Given the description of an element on the screen output the (x, y) to click on. 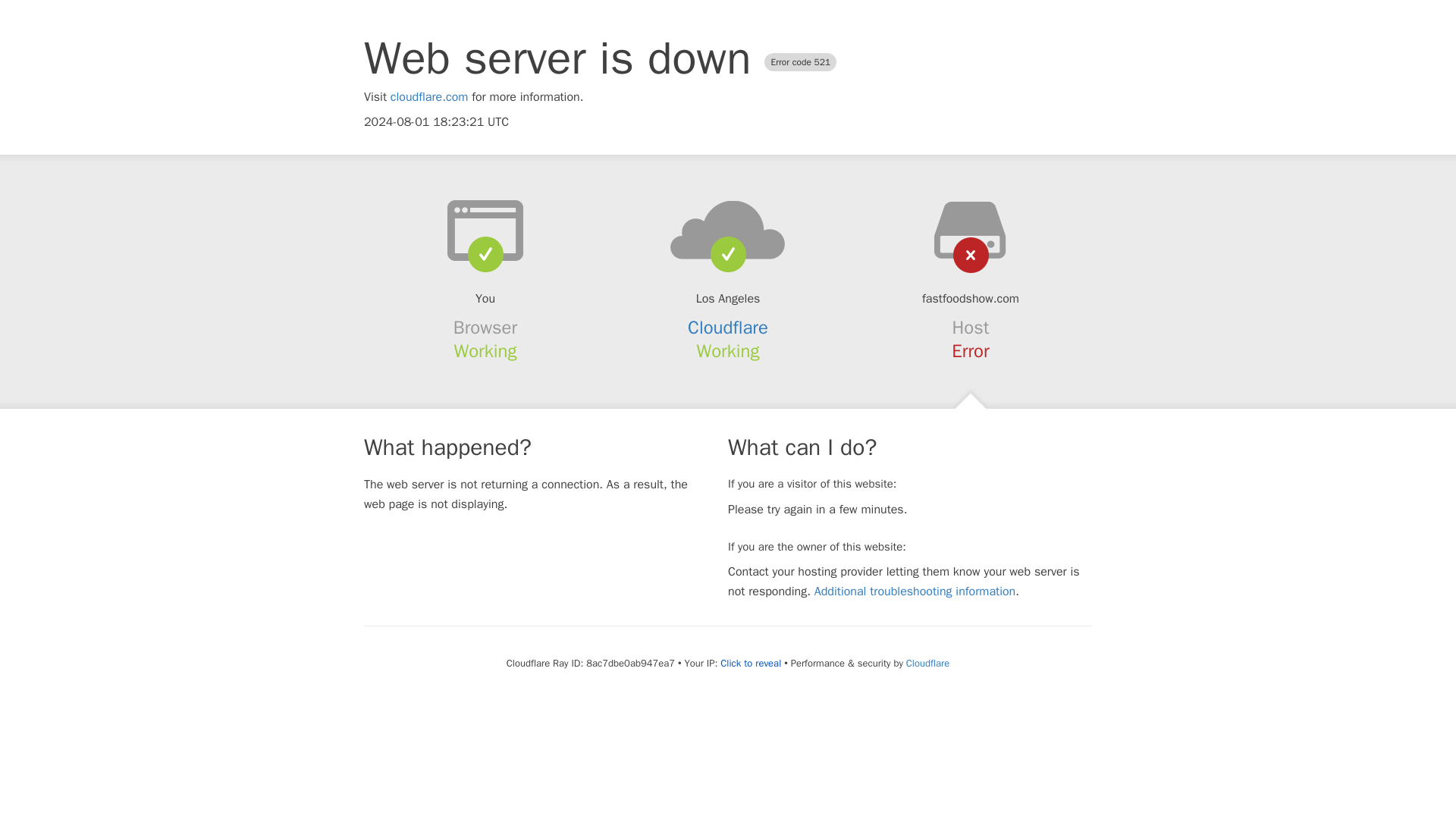
Cloudflare (727, 327)
Cloudflare (927, 662)
Click to reveal (750, 663)
cloudflare.com (429, 96)
Additional troubleshooting information (913, 590)
